Given the description of an element on the screen output the (x, y) to click on. 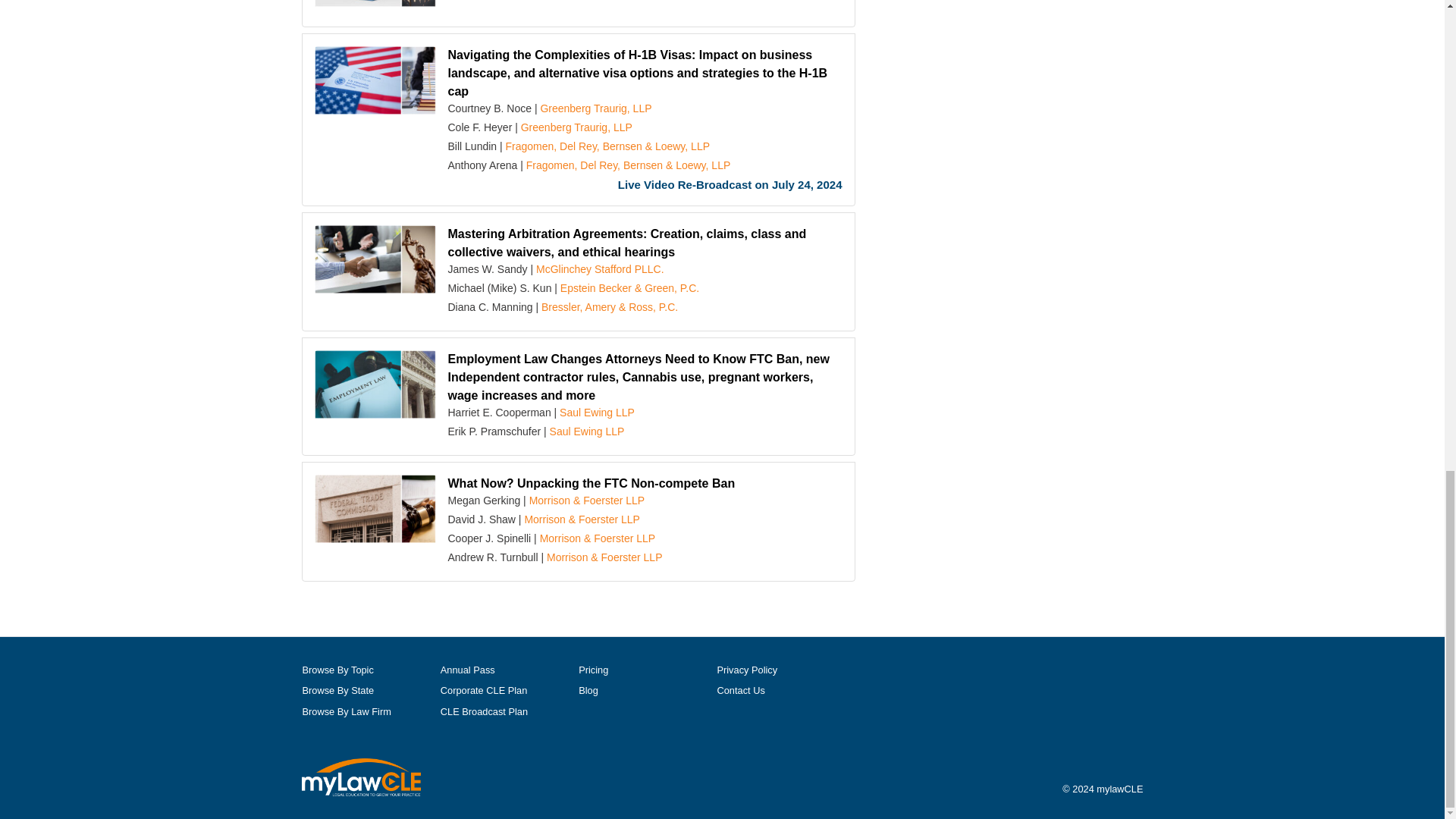
What Now? Unpacking the FTC Non-compete Ban (374, 512)
What Now? Unpacking the FTC Non-compete Ban (590, 482)
Military Leave Rights: USERRA, COBRA, FMLA, and VEVRRA (374, 7)
